Given the description of an element on the screen output the (x, y) to click on. 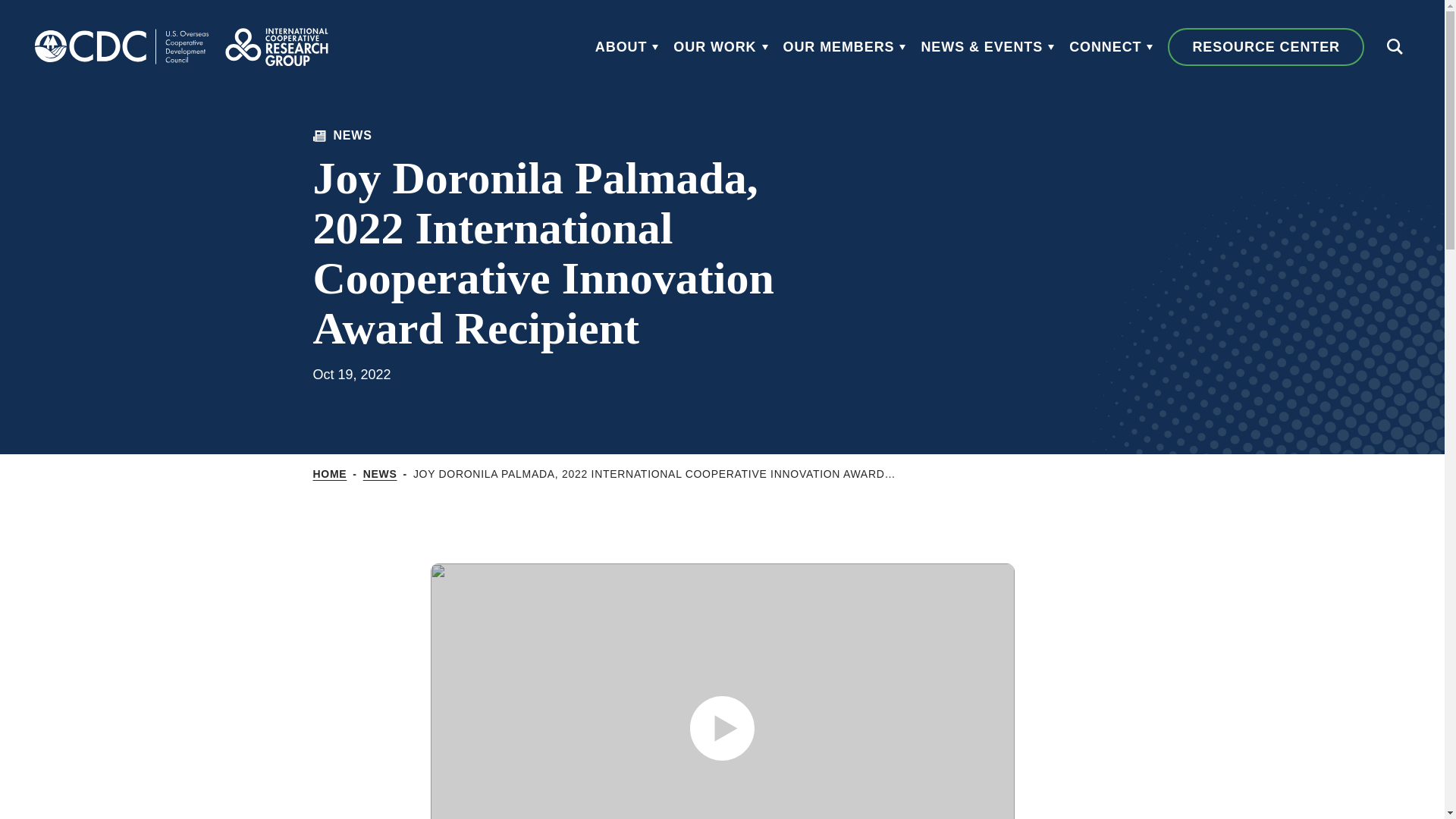
NEWS (379, 475)
OUR WORK (719, 46)
Search (1393, 46)
homepage (276, 46)
ABOUT (627, 46)
CONNECT (1110, 46)
HOME (329, 475)
homepage (121, 46)
OUR MEMBERS (844, 46)
RESOURCE CENTER (1265, 46)
